Given the description of an element on the screen output the (x, y) to click on. 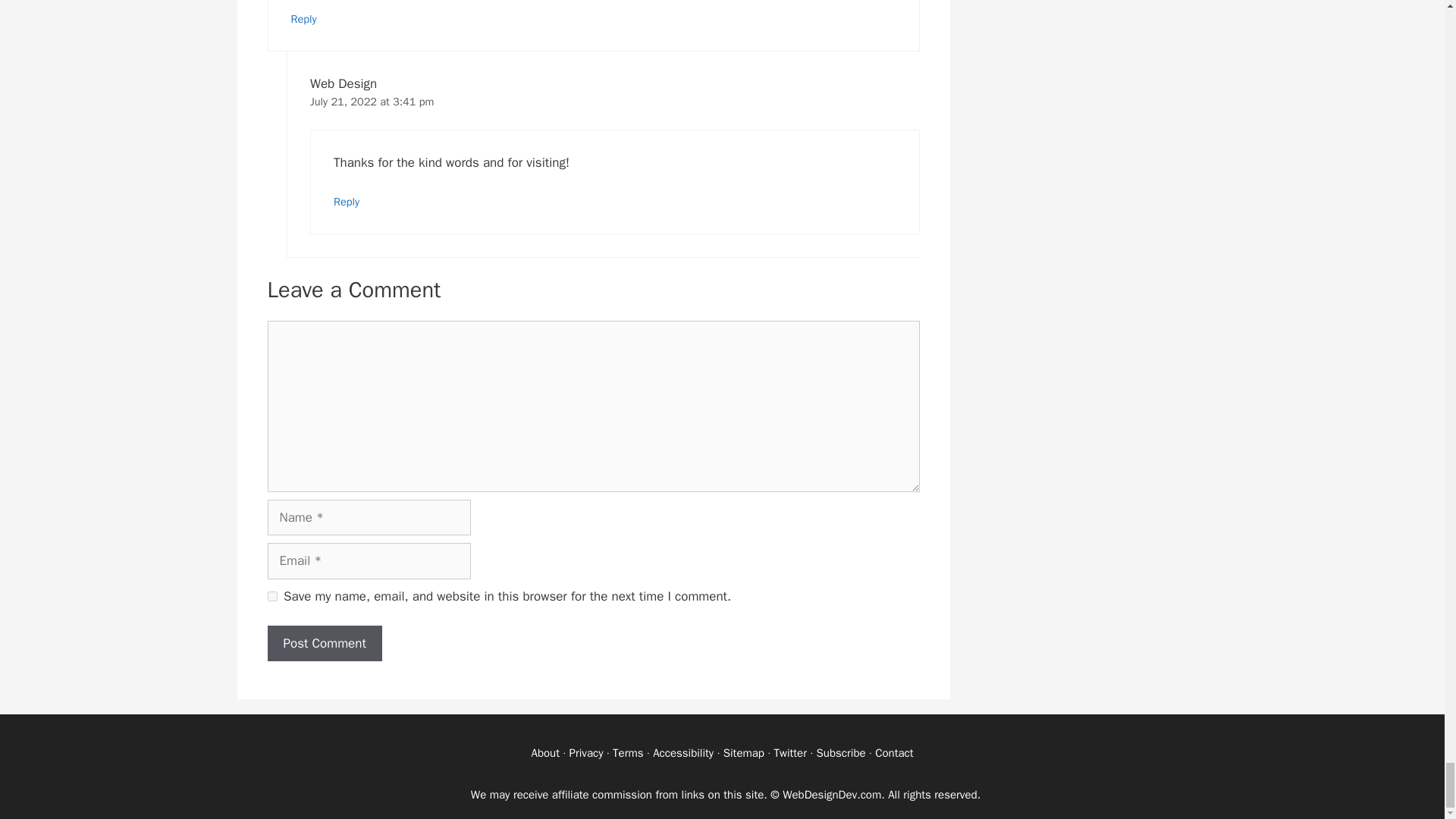
yes (271, 596)
Post Comment (323, 643)
